Given the description of an element on the screen output the (x, y) to click on. 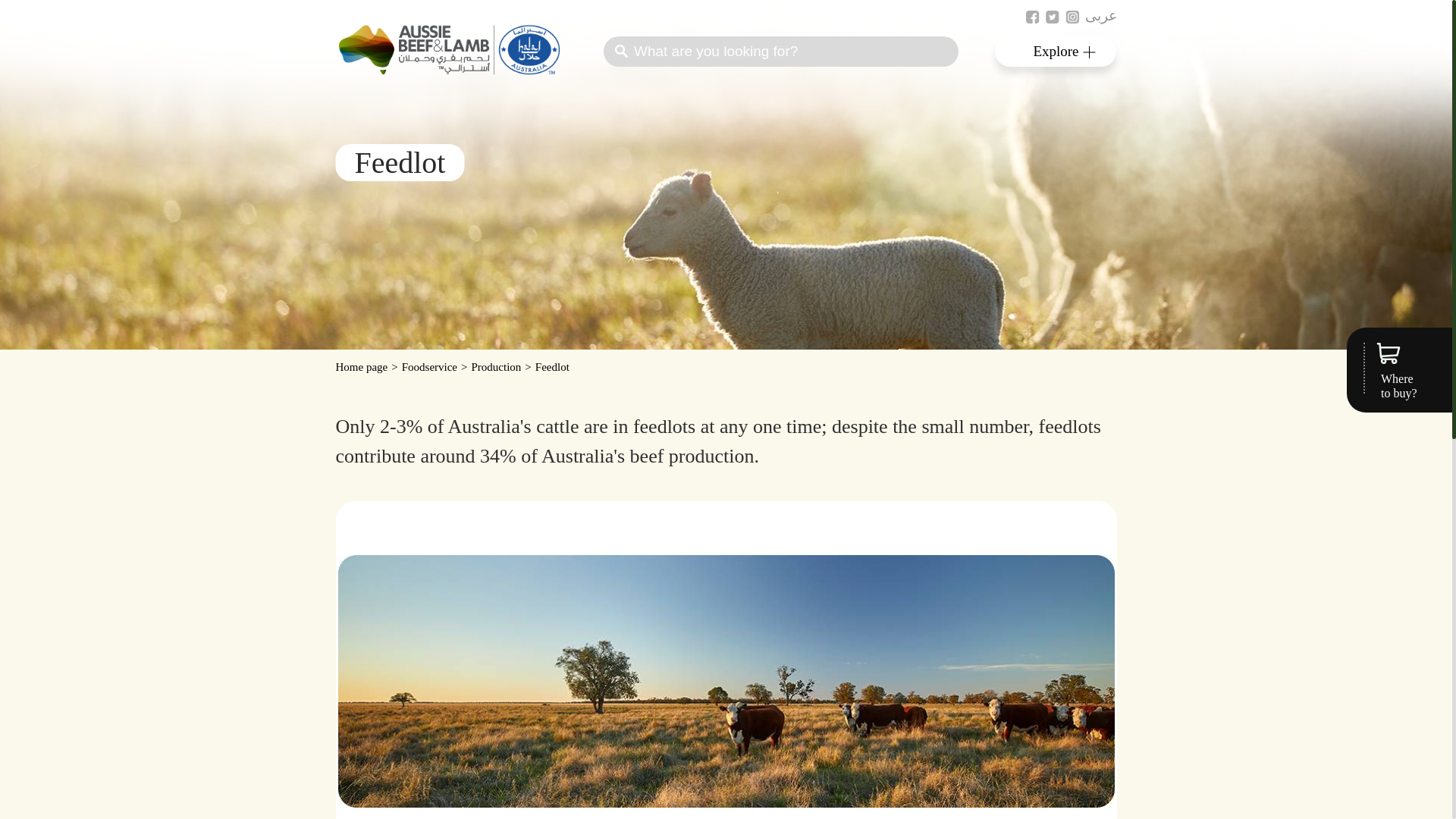
facebook (1032, 17)
twitter (1051, 17)
Production (501, 367)
instagram (1071, 17)
Home page (365, 367)
logo (448, 49)
Foodservice (434, 367)
logo (450, 70)
